Given the description of an element on the screen output the (x, y) to click on. 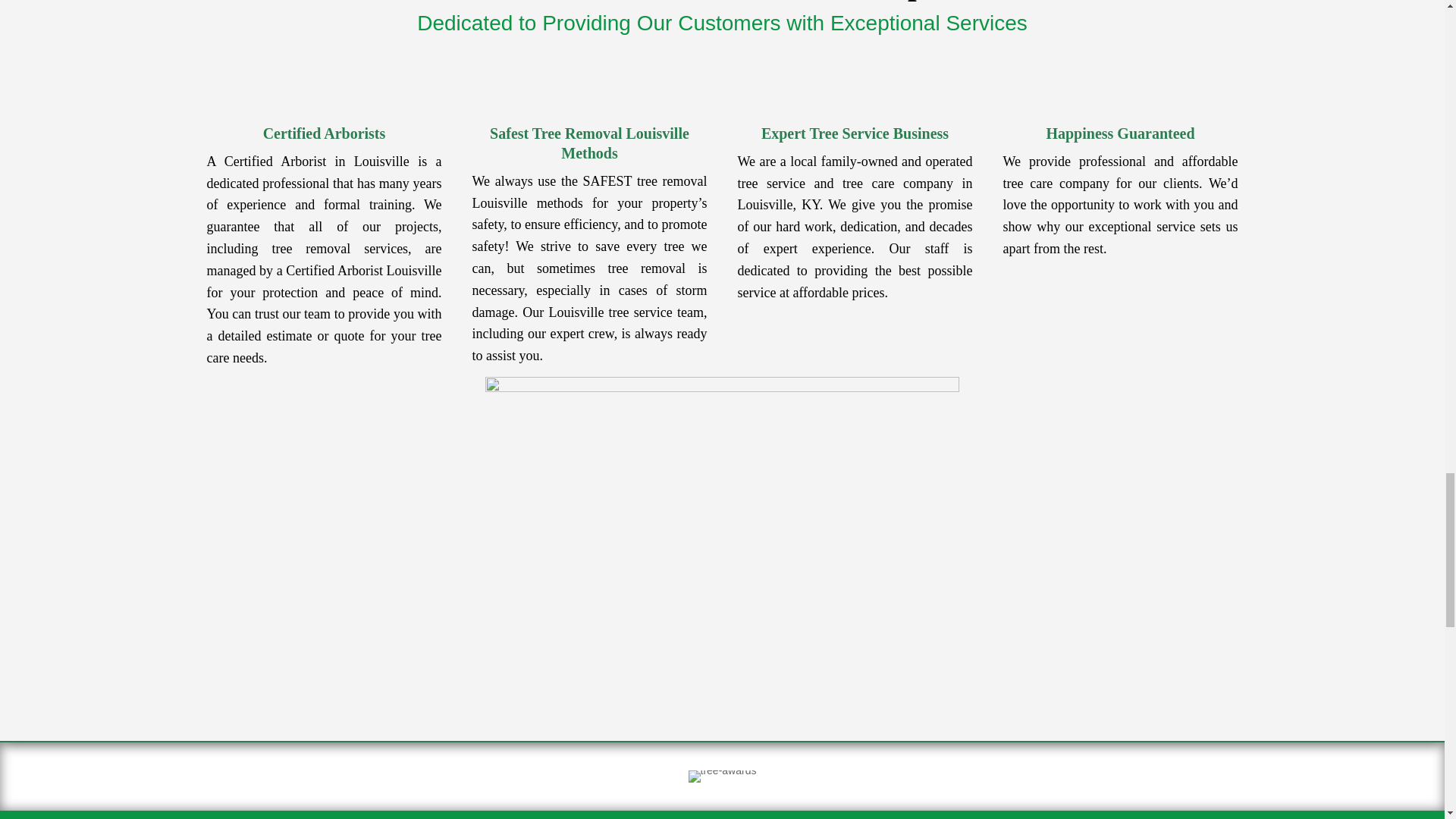
tree-awards (722, 776)
